Given the description of an element on the screen output the (x, y) to click on. 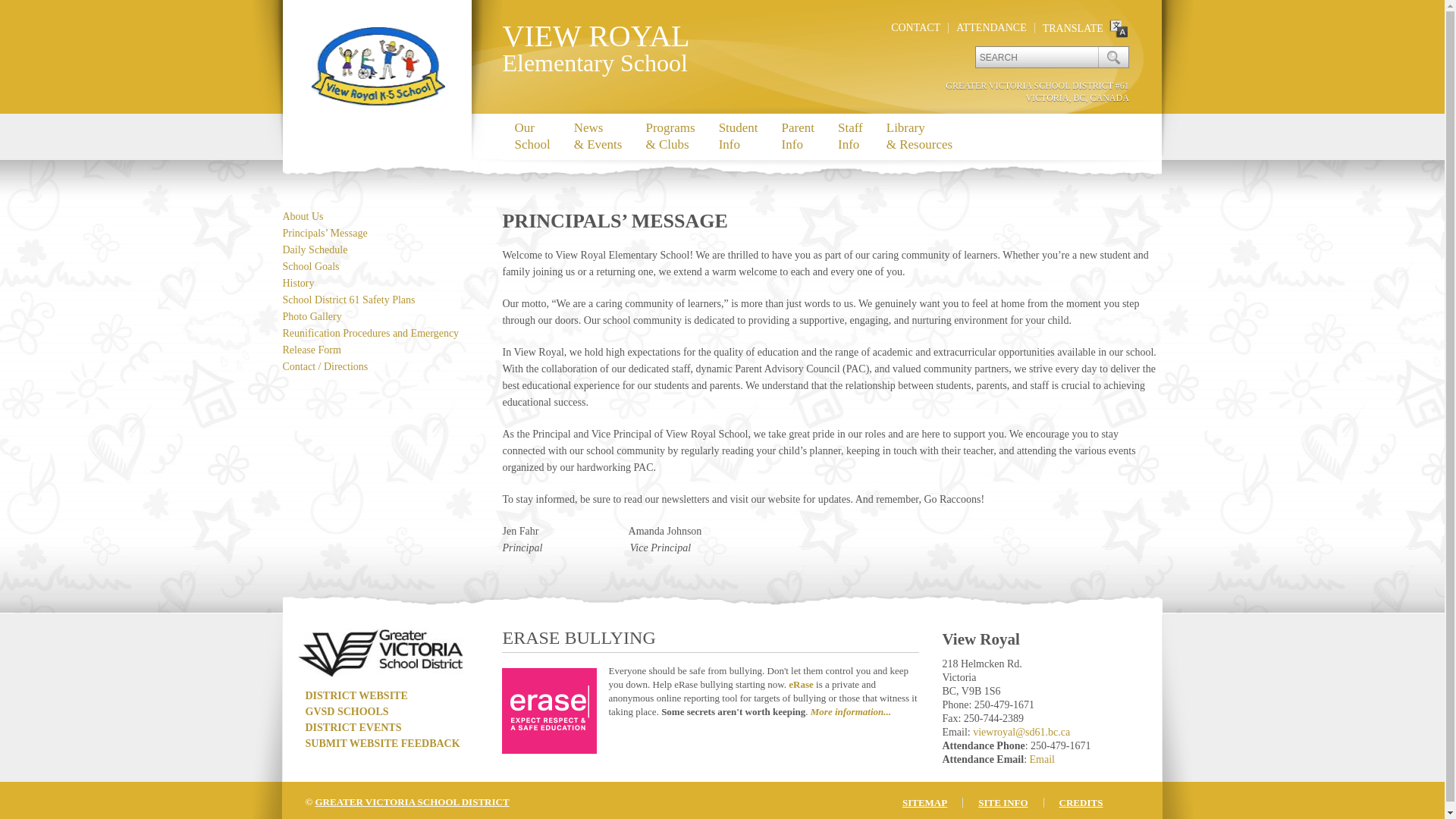
ATTENDANCE Element type: text (991, 27)
SITE INFO Element type: text (1002, 802)
Library
& Resources Element type: text (918, 136)
Our
School Element type: text (531, 136)
DISTRICT WEBSITE Element type: text (355, 695)
DISTRICT EVENTS Element type: text (352, 727)
Photo Gallery Element type: text (311, 316)
Contact / Directions Element type: text (324, 366)
GVSD SCHOOLS Element type: text (346, 711)
School Goals Element type: text (310, 266)
Programs
& Clubs Element type: text (669, 136)
Staff
Info Element type: text (849, 136)
Reunification Procedures and Emergency Release Form Element type: text (370, 341)
  Element type: text (1112, 57)
eRase Element type: text (800, 684)
More information... Element type: text (850, 711)
CONTACT Element type: text (915, 27)
Student
Info Element type: text (737, 136)
School District 61 Safety Plans Element type: text (348, 299)
Email Element type: text (1041, 759)
History Element type: text (297, 282)
GREATER VICTORIA SCHOOL DISTRICT Element type: text (411, 801)
viewroyal@sd61.bc.ca Element type: text (1021, 731)
News
& Events Element type: text (597, 136)
SITEMAP Element type: text (924, 802)
CREDITS Element type: text (1081, 802)
About Us Element type: text (302, 216)
Parent
Info Element type: text (797, 136)
Daily Schedule Element type: text (314, 249)
SUBMIT WEBSITE FEEDBACK Element type: text (381, 743)
